Given the description of an element on the screen output the (x, y) to click on. 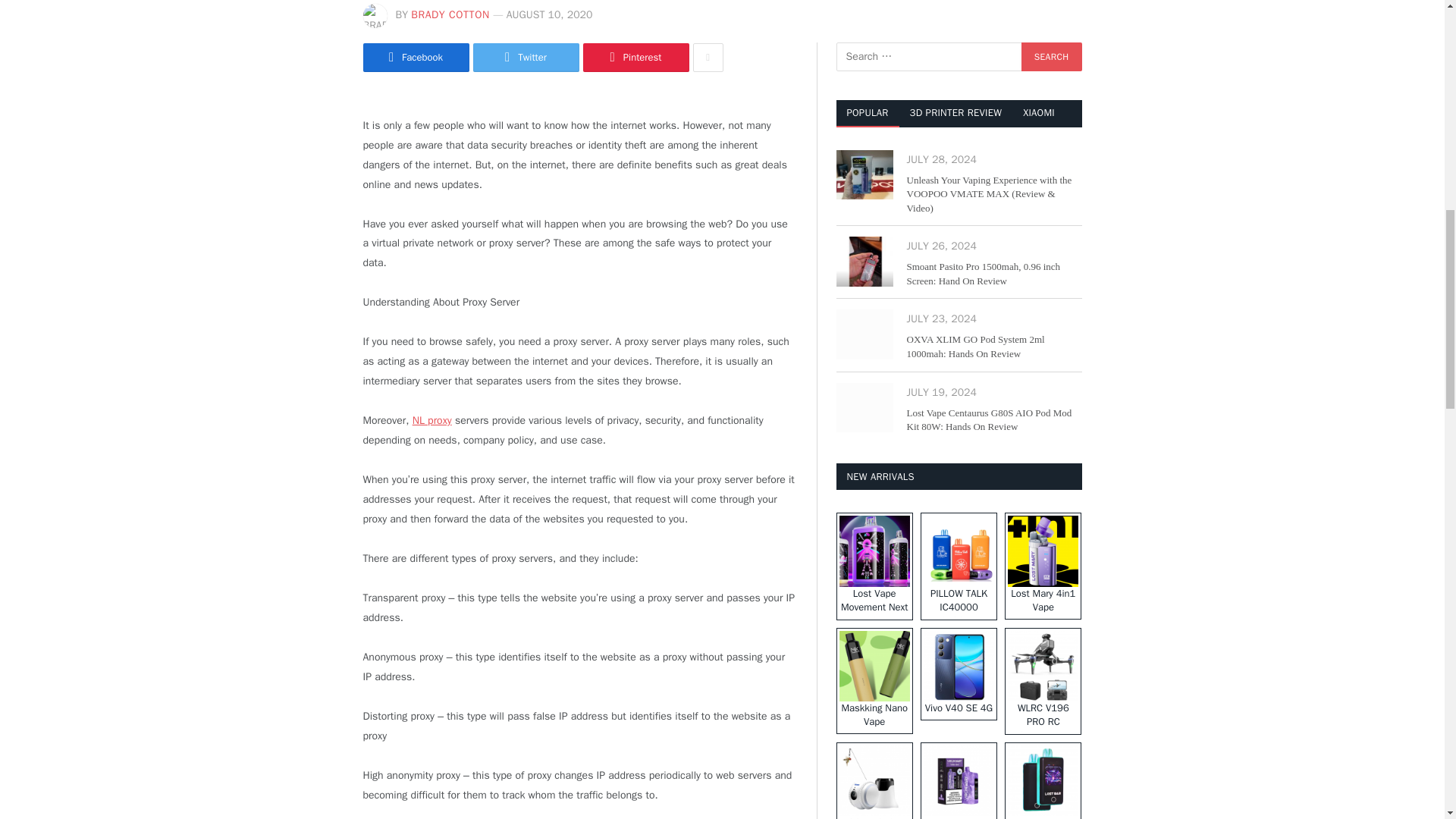
Share on Pinterest (635, 57)
Share on Facebook (415, 57)
Search (1051, 56)
Search (1051, 56)
Share on Twitter (526, 57)
Posts by Brady Cotton (449, 14)
Show More Social Sharing (708, 57)
